Given the description of an element on the screen output the (x, y) to click on. 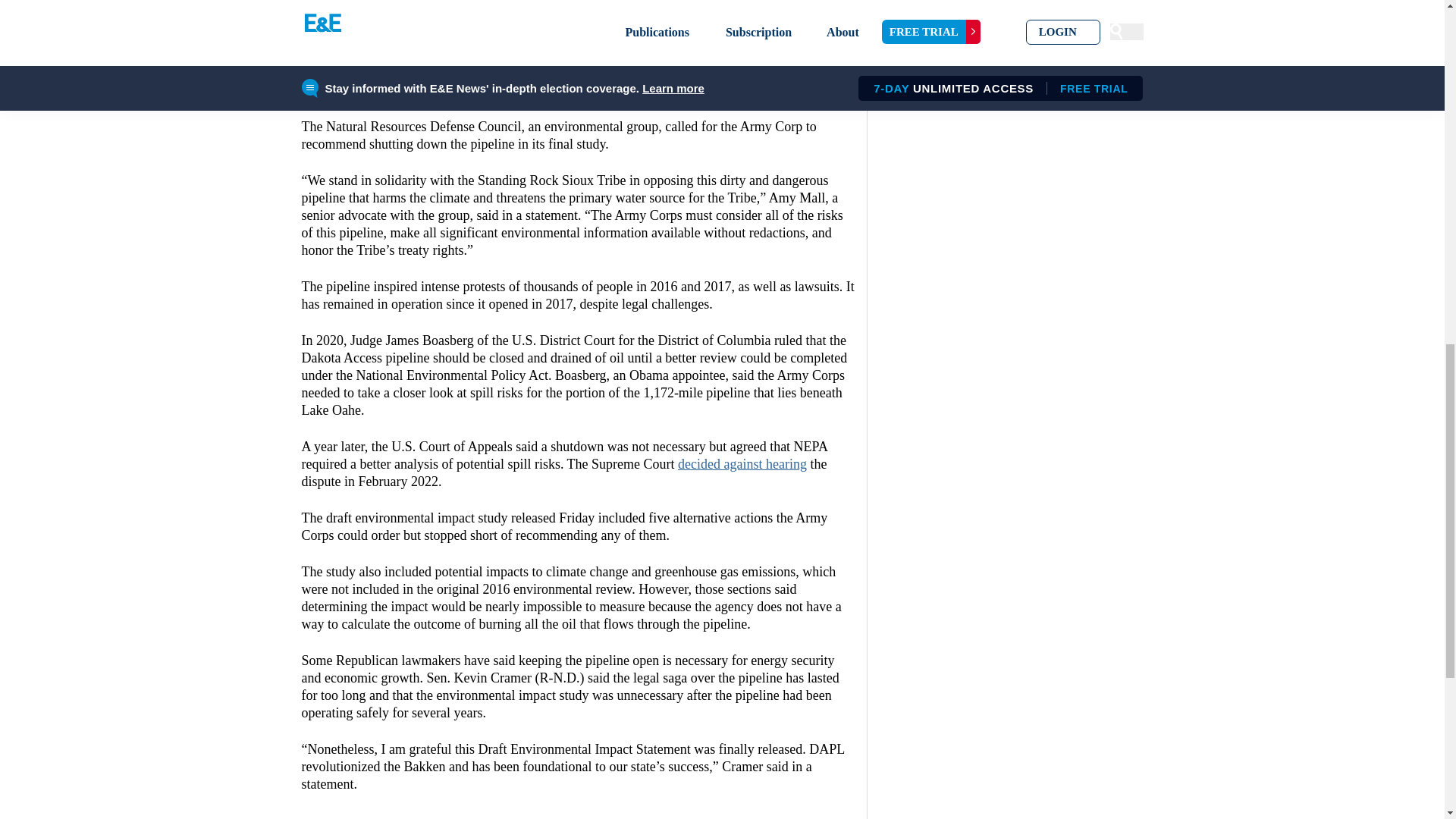
3rd party ad content (577, 13)
decided against hearing (742, 463)
